Given the description of an element on the screen output the (x, y) to click on. 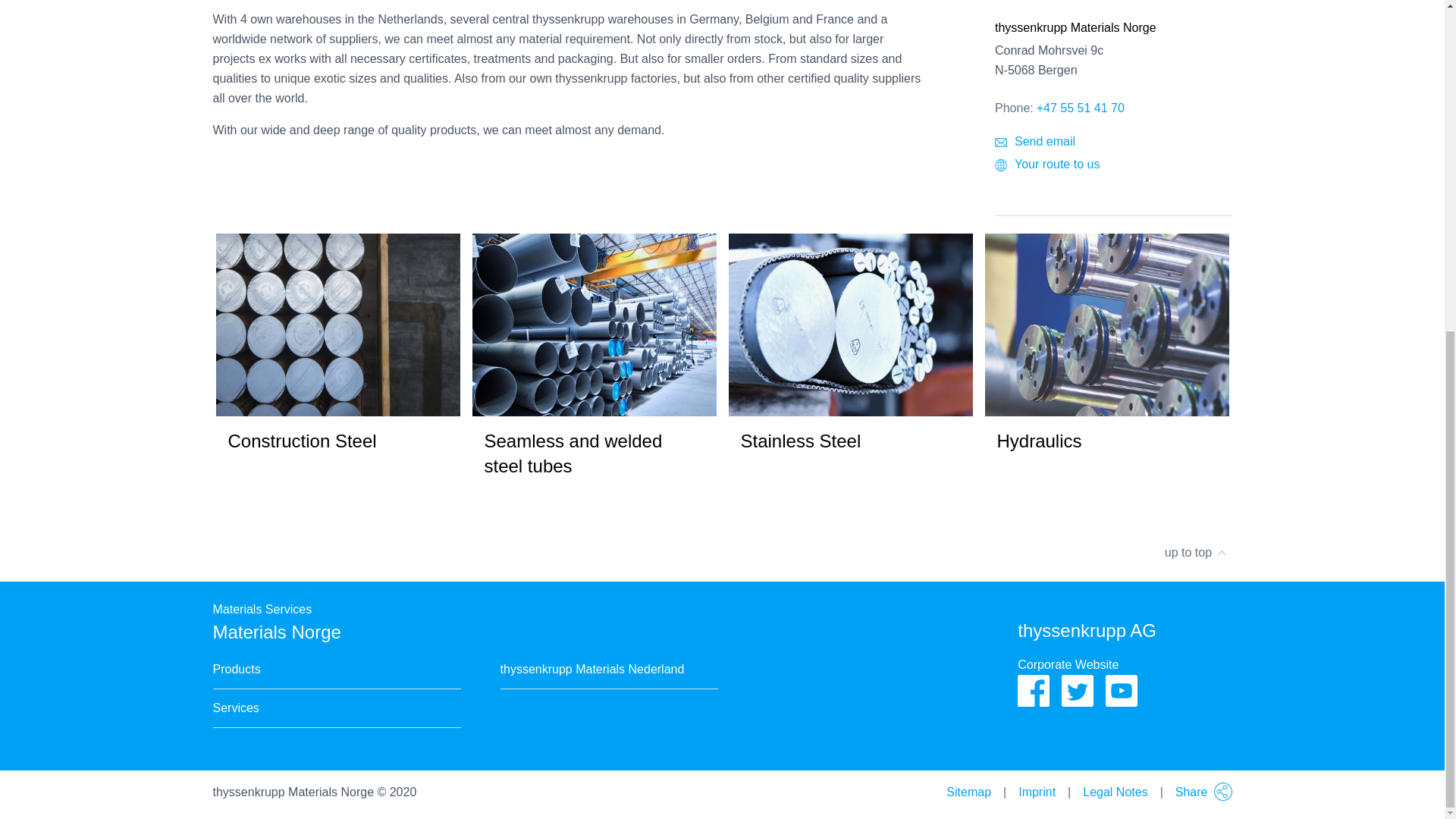
tk-share (1221, 791)
Stainless Steel (850, 358)
Sitemap (968, 792)
tk-mail (1000, 142)
arrow-up (1220, 546)
Construction Steel (337, 324)
Services (235, 708)
thyssenkrupp Materials Nederland (592, 669)
arrow-up (1220, 552)
Corporate Website (1067, 664)
tk-link-website Your route to us (1112, 164)
up to top arrow-up (721, 552)
Hydraulics (1106, 358)
Construction Steel (337, 358)
